Given the description of an element on the screen output the (x, y) to click on. 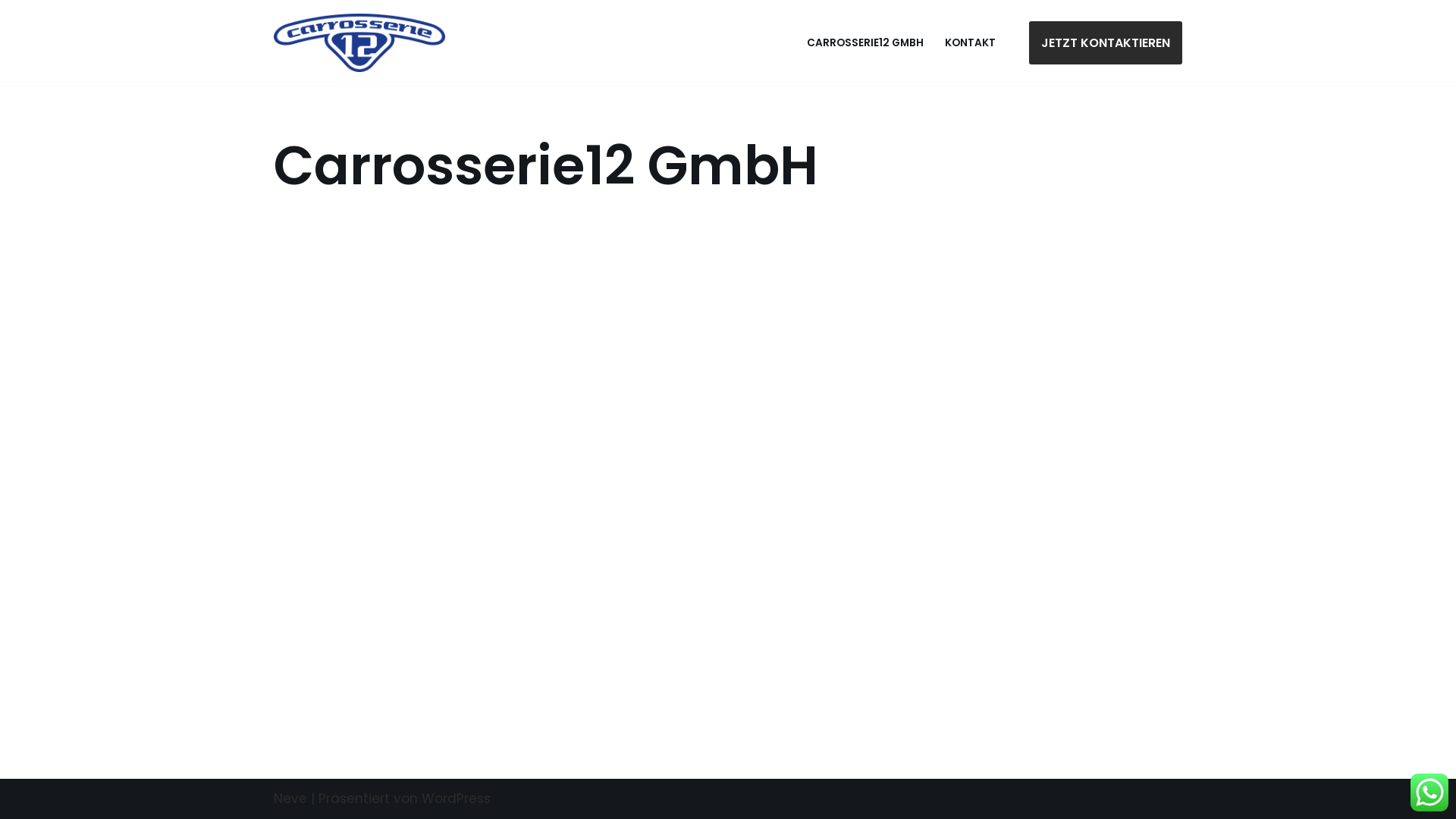
KONTAKT Element type: text (969, 42)
Zum Inhalt Element type: text (11, 31)
WordPress Element type: text (455, 798)
CARROSSERIE12 GMBH Element type: text (864, 42)
Neve Element type: text (290, 798)
JETZT KONTAKTIEREN Element type: text (1105, 43)
